Given the description of an element on the screen output the (x, y) to click on. 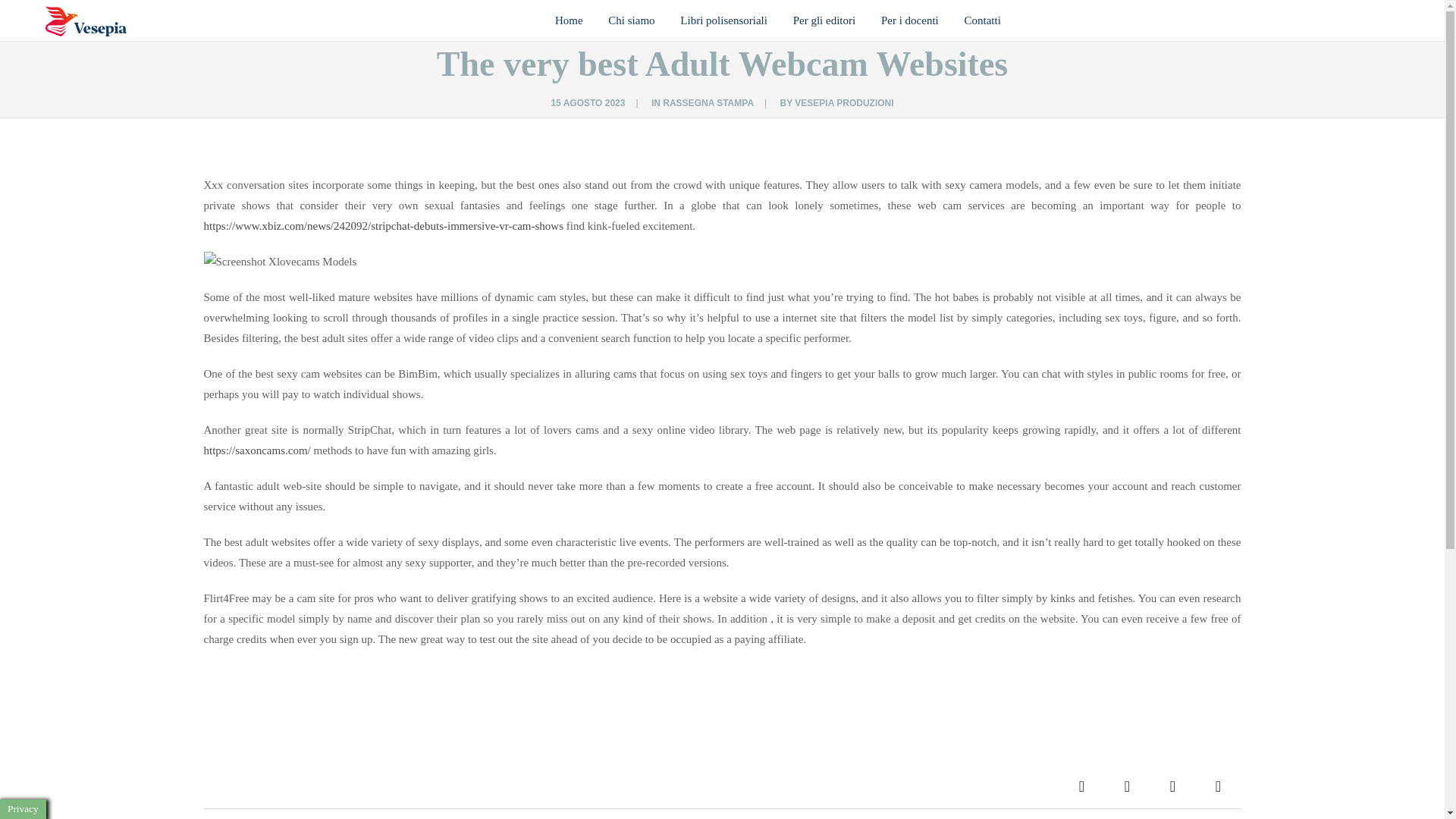
Per gli editori (824, 20)
Pin this. (1217, 786)
Tweet this. (1126, 786)
Libri polisensoriali (723, 20)
RASSEGNA STAMPA (708, 102)
VESEPIA PRODUZIONI (843, 102)
Chi siamo (630, 20)
Share this. (1172, 786)
Per i docenti (909, 20)
Share this. (1080, 786)
Contatti (977, 20)
Home (574, 20)
